Given the description of an element on the screen output the (x, y) to click on. 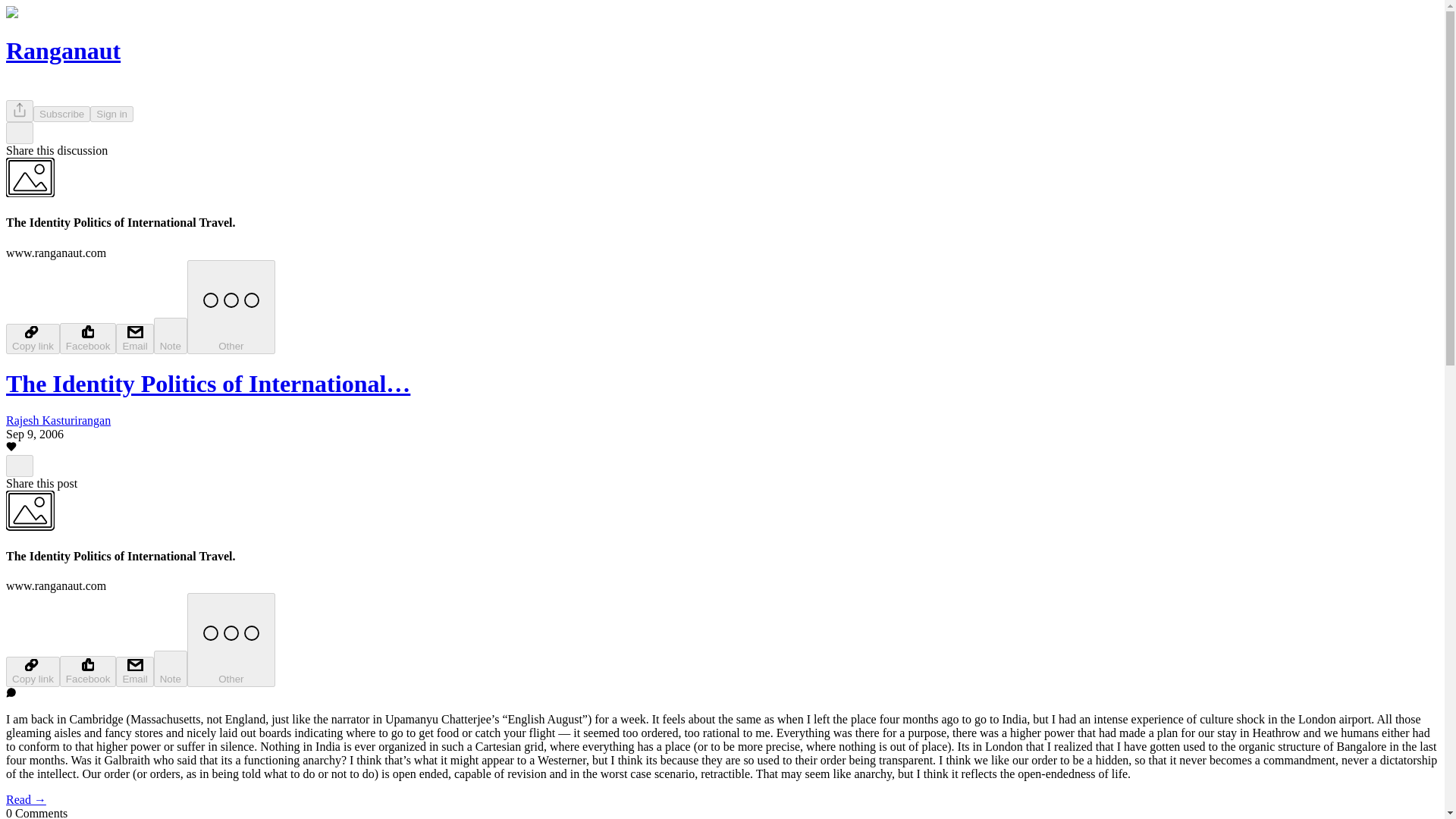
Email (134, 338)
Copy link (32, 338)
Facebook (87, 337)
Note (170, 668)
Subscribe (61, 114)
Other (231, 306)
Ranganaut (62, 50)
Note (170, 335)
Other (231, 639)
Sign in (111, 114)
Copy link (32, 671)
Email (134, 671)
Rajesh Kasturirangan (57, 420)
Facebook (87, 671)
